Given the description of an element on the screen output the (x, y) to click on. 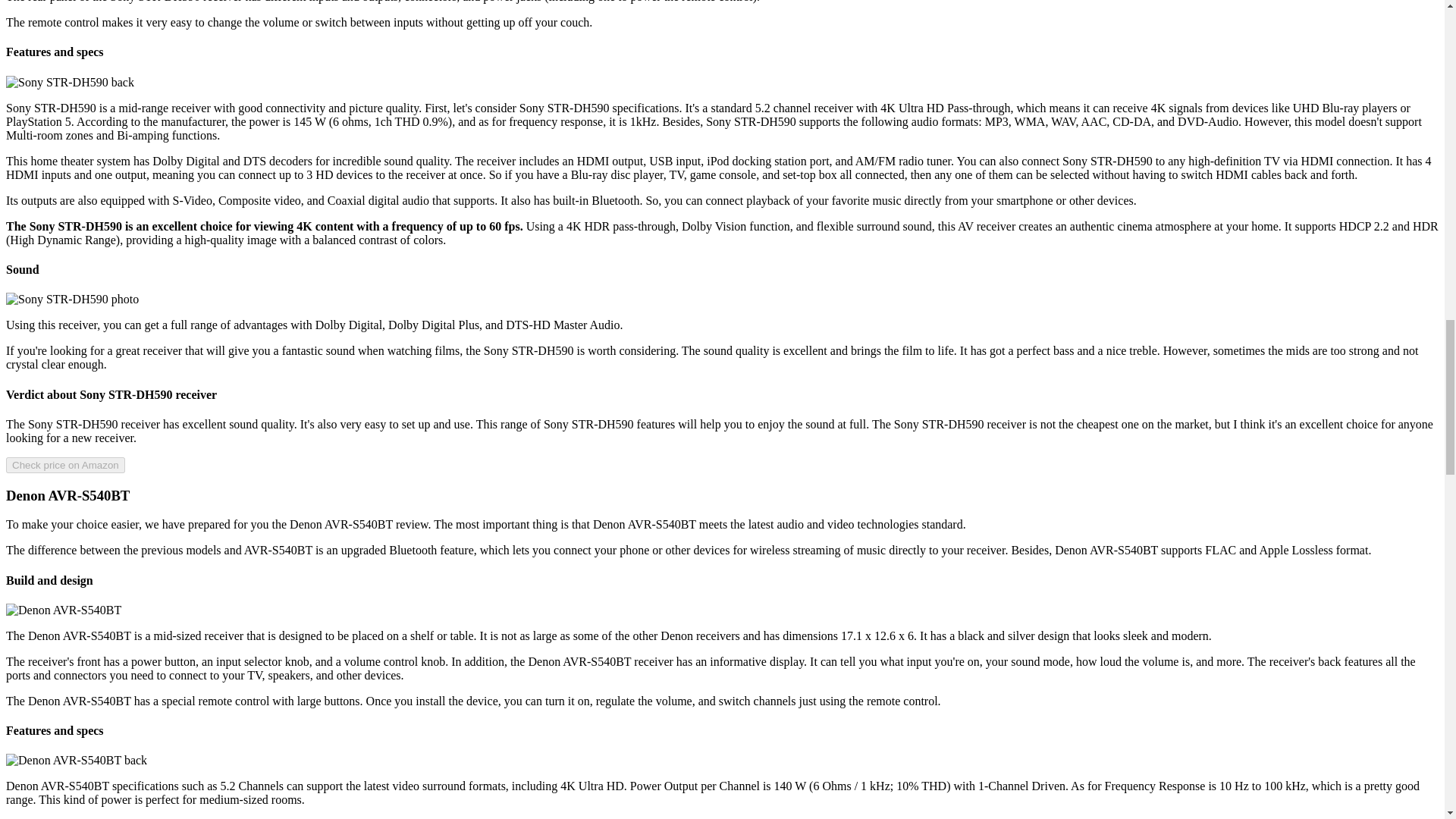
Check price on Amazon (65, 463)
Sony STR-DH590 photo (71, 299)
Sony STR-DH590 back (69, 82)
Denon AVR-S540BT (62, 610)
Check price on Amazon (65, 465)
Denon AVR-S540BT back (76, 760)
